Given the description of an element on the screen output the (x, y) to click on. 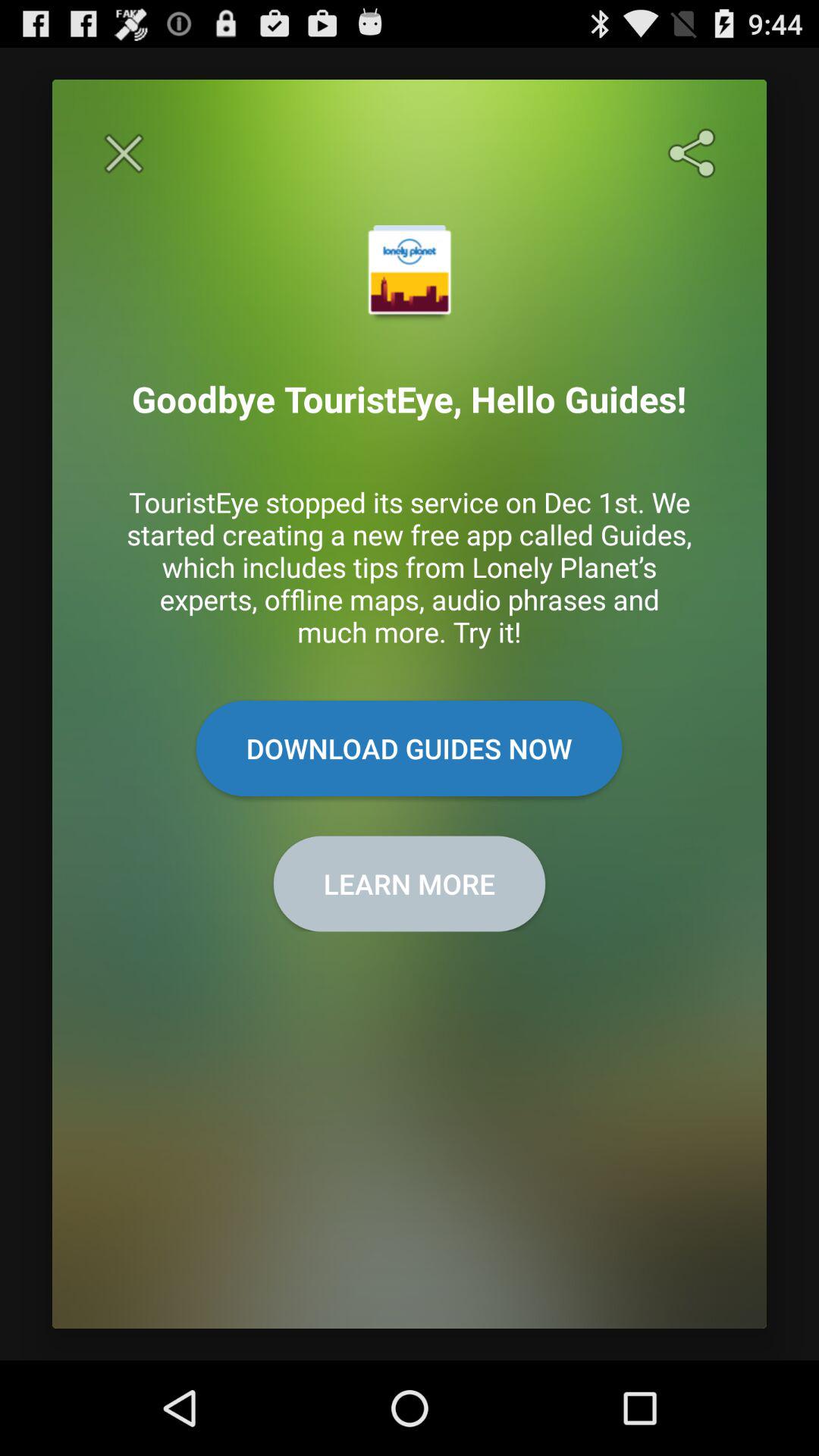
press the icon at the top left corner (123, 153)
